Given the description of an element on the screen output the (x, y) to click on. 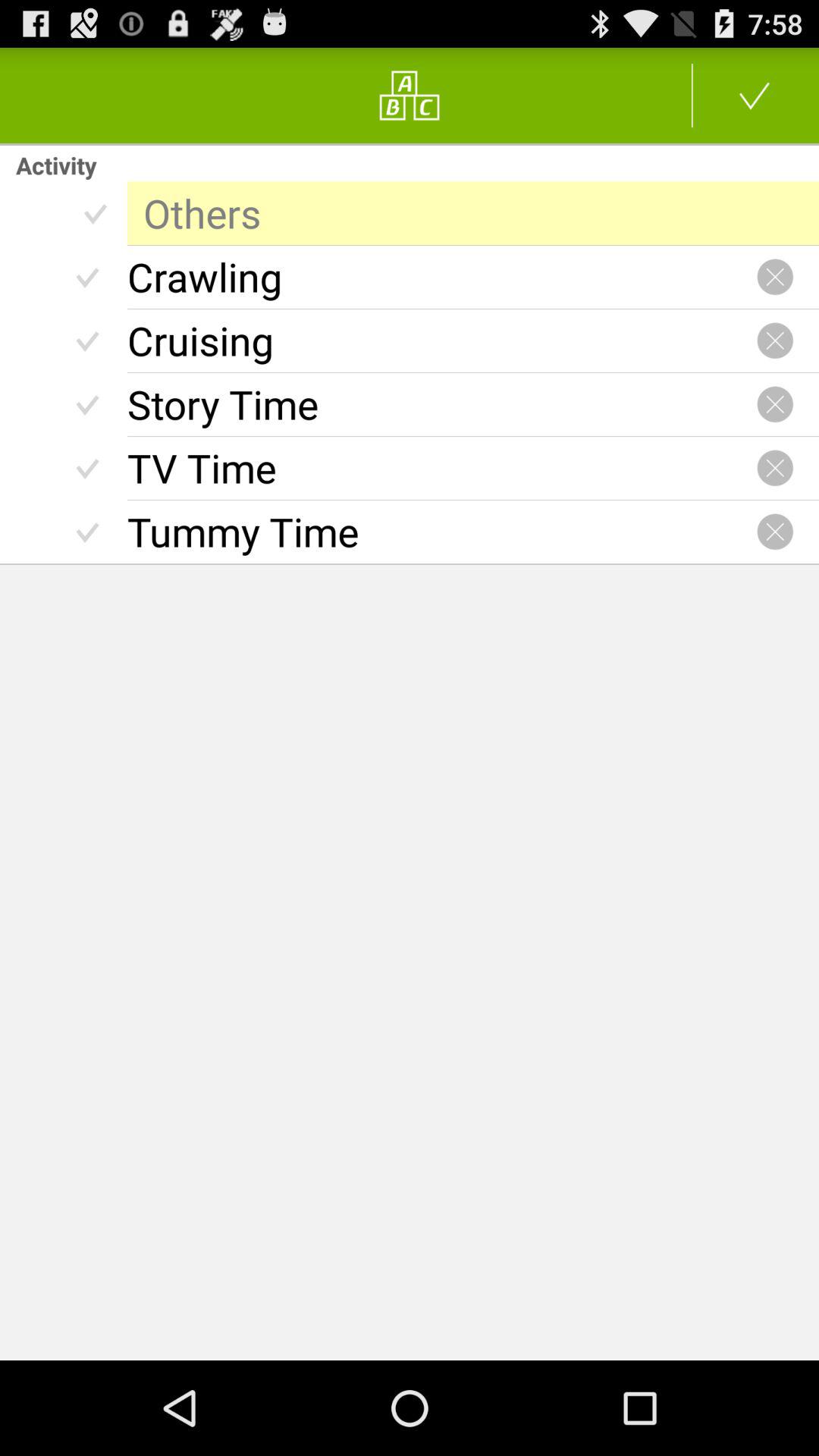
go to close option (775, 276)
